Given the description of an element on the screen output the (x, y) to click on. 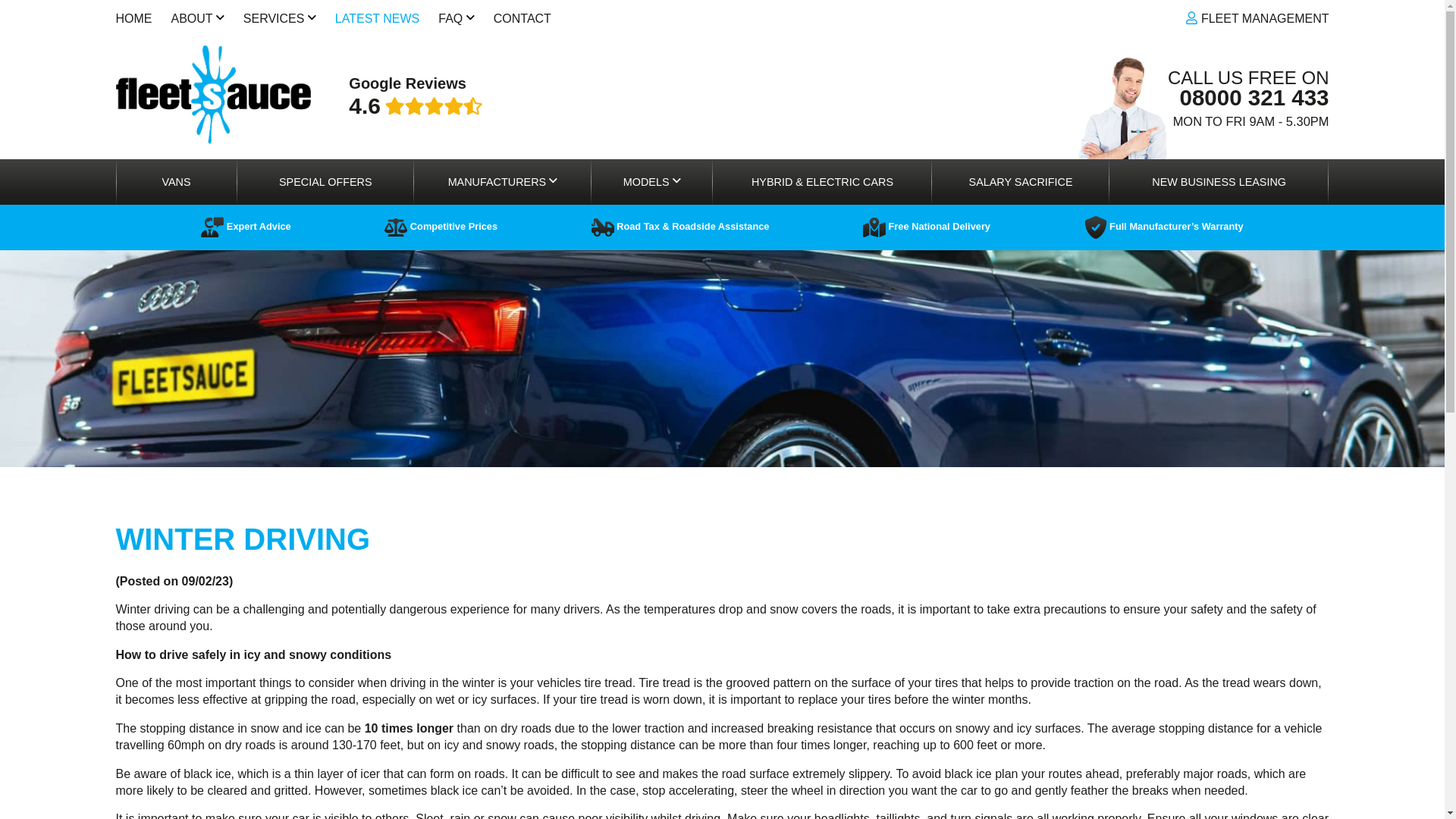
ABOUT (197, 18)
HOME (133, 18)
SERVICES (279, 18)
